Given the description of an element on the screen output the (x, y) to click on. 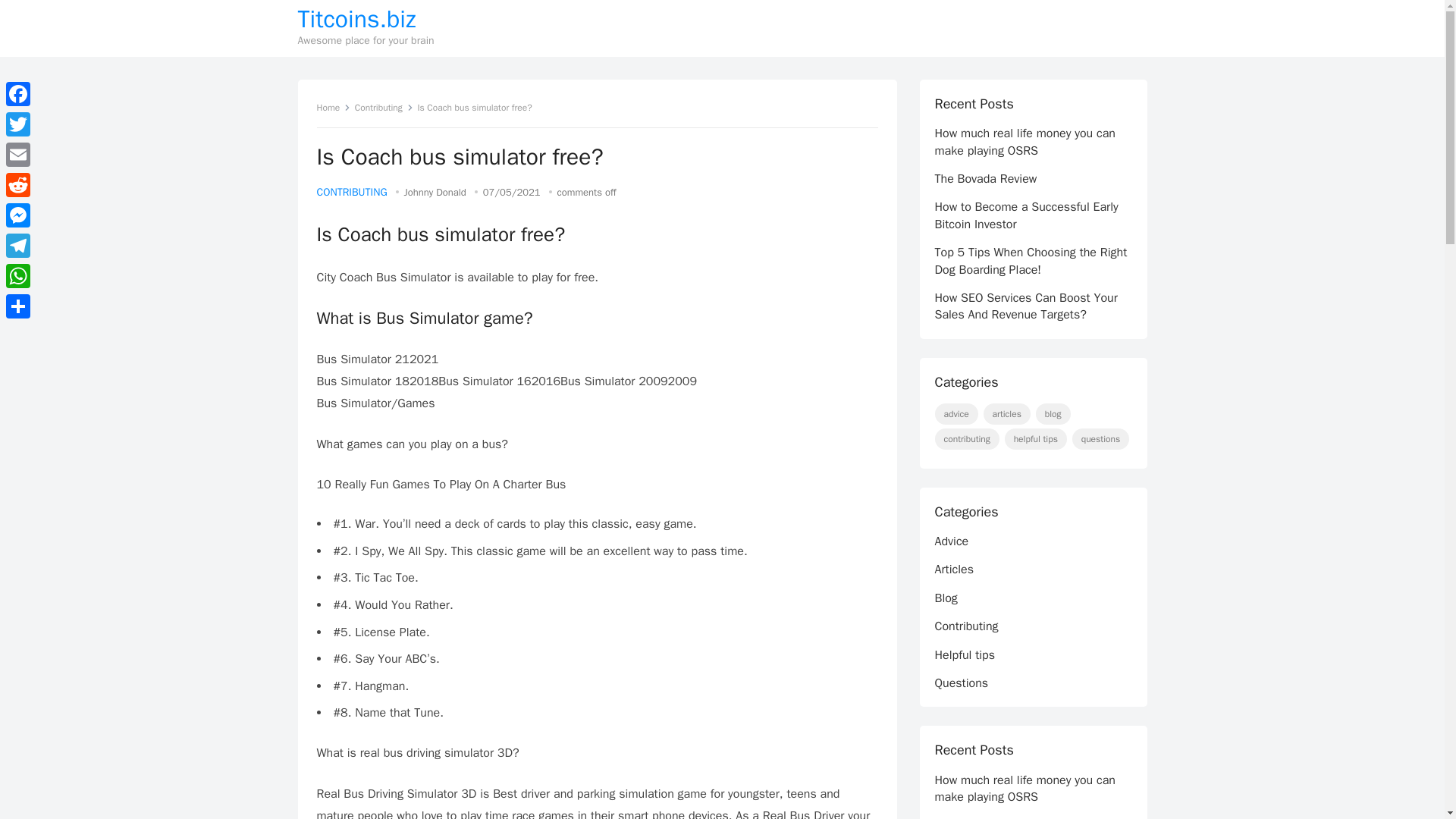
articles (1007, 414)
Contributing (384, 107)
Posts by Johnny Donald (434, 192)
CONTRIBUTING (352, 192)
How much real life money you can make playing OSRS (1024, 142)
Titcoins.biz (365, 19)
How SEO Services Can Boost Your Sales And Revenue Targets? (1025, 306)
Johnny Donald (434, 192)
Facebook (17, 93)
Home (333, 107)
The Bovada Review (985, 178)
Top 5 Tips When Choosing the Right Dog Boarding Place! (1030, 260)
advice (955, 414)
How to Become a Successful Early Bitcoin Investor (1026, 214)
